Given the description of an element on the screen output the (x, y) to click on. 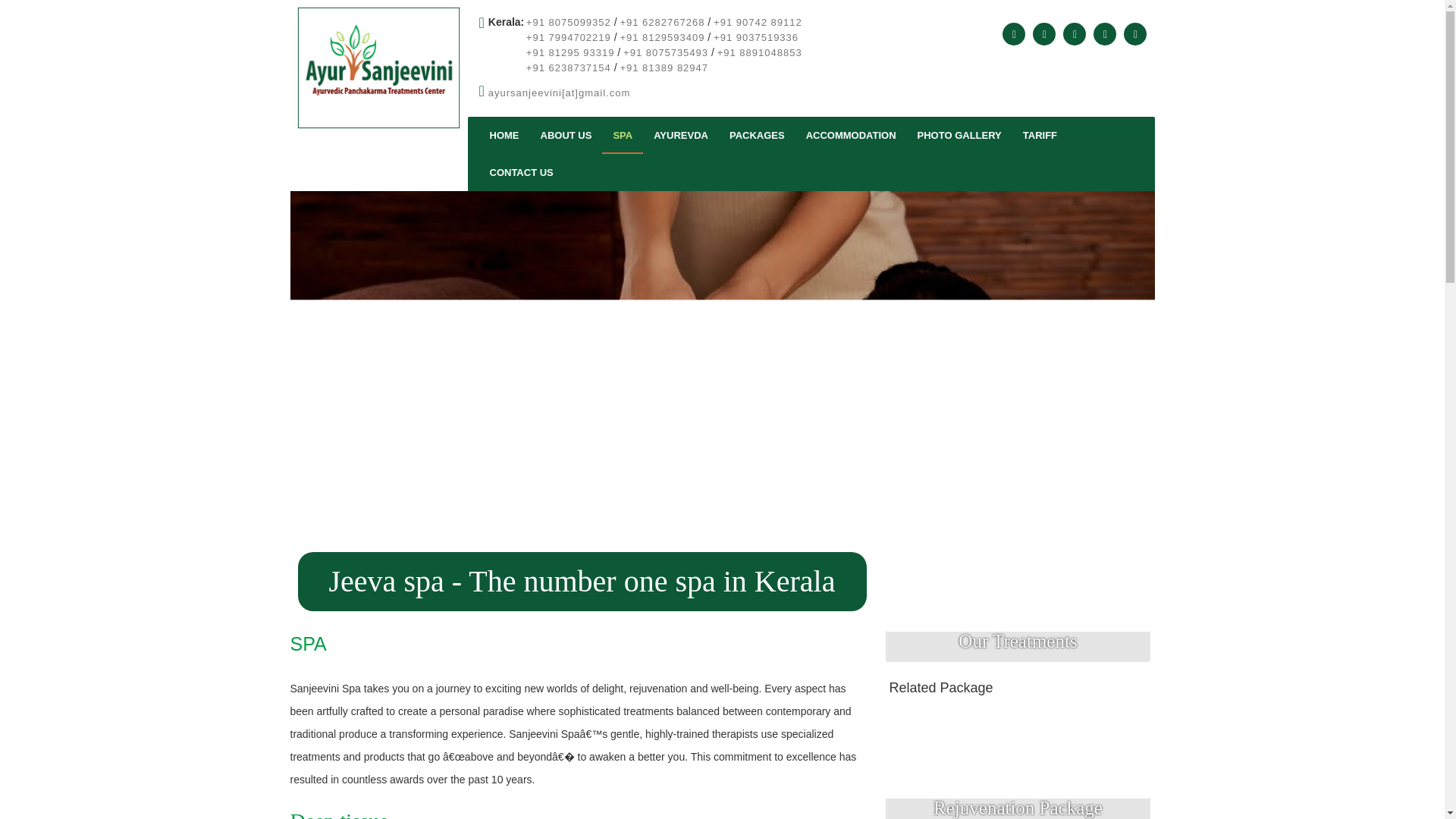
SPA (622, 135)
HOME (504, 135)
Our Treatments (1017, 604)
AYUREVDA (681, 135)
CONTACT US (521, 171)
Rejuvenation Package (1017, 765)
ACCOMMODATION (850, 135)
PACKAGES (756, 135)
TARIFF (1039, 135)
ABOUT US (565, 135)
